Given the description of an element on the screen output the (x, y) to click on. 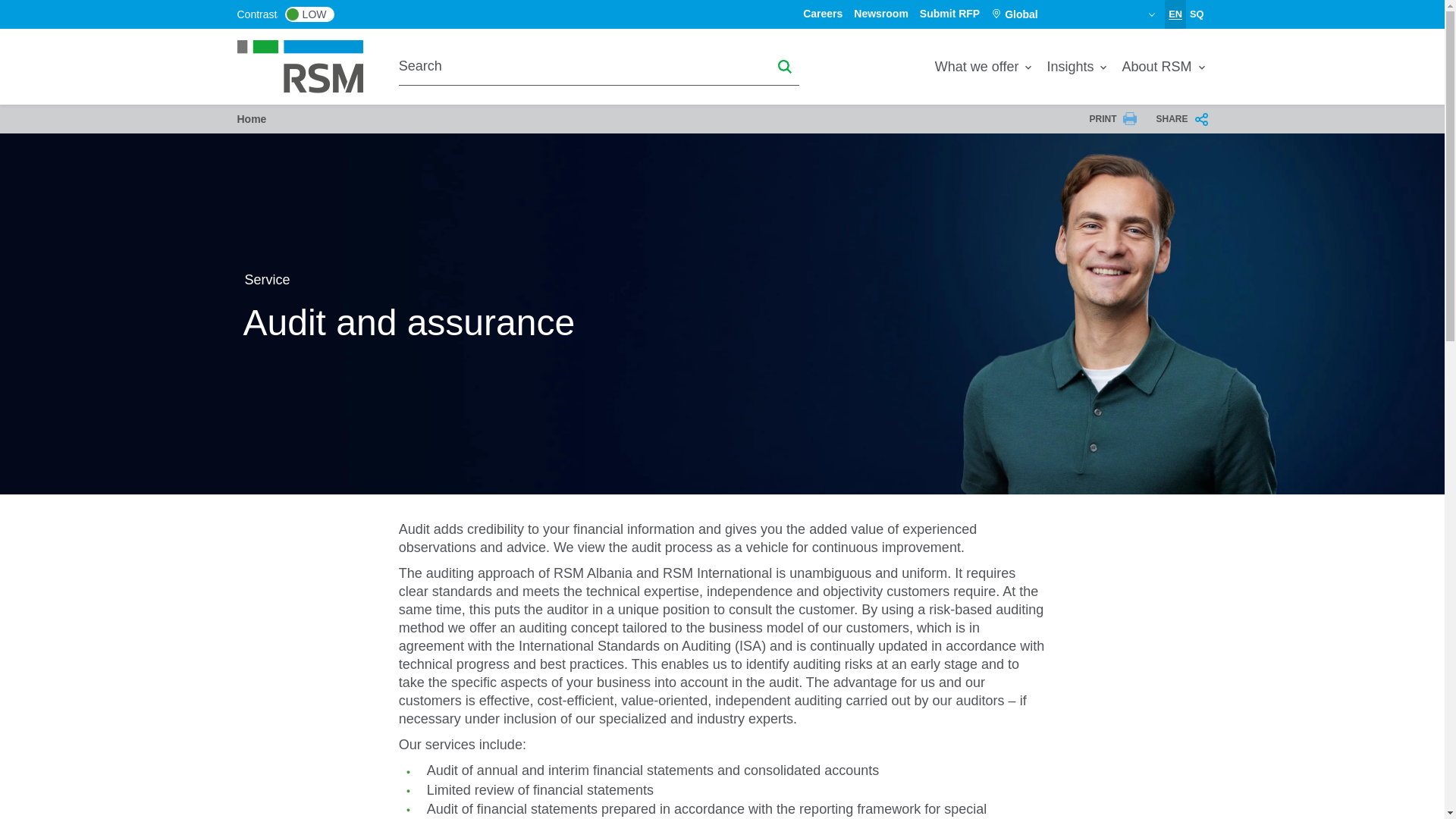
home (308, 65)
EN (1175, 13)
What we offer (984, 66)
Albanian (1196, 13)
English (1175, 13)
SQ (1196, 13)
About RSM (1161, 66)
Careers (823, 13)
Insights (1078, 66)
Submit RFP (949, 13)
Newsroom (880, 13)
